Given the description of an element on the screen output the (x, y) to click on. 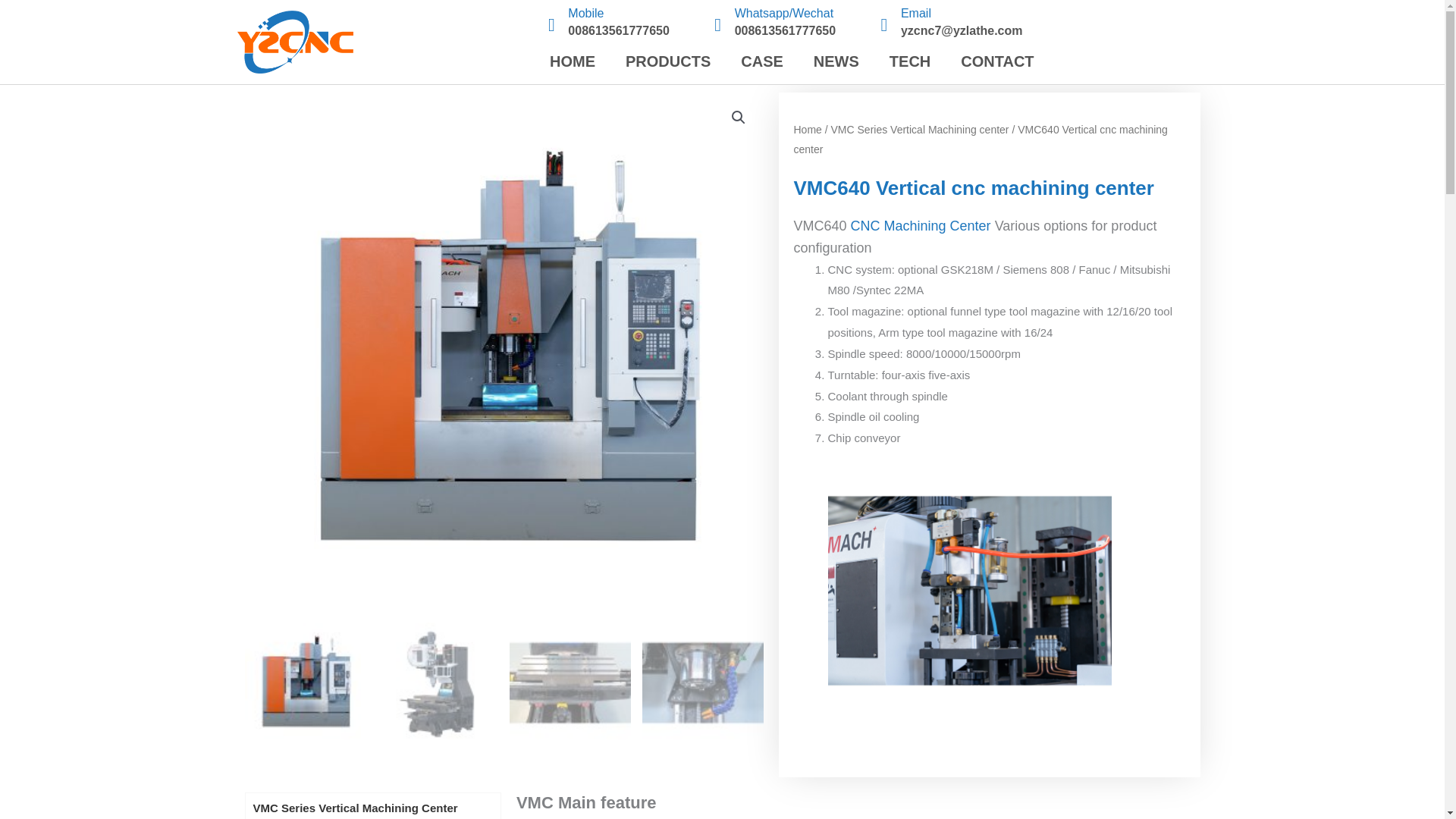
CONTACT (996, 60)
CASE (761, 60)
NEWS (836, 60)
TECH (909, 60)
HOME (572, 60)
PRODUCTS (667, 60)
Email (916, 12)
